Given the description of an element on the screen output the (x, y) to click on. 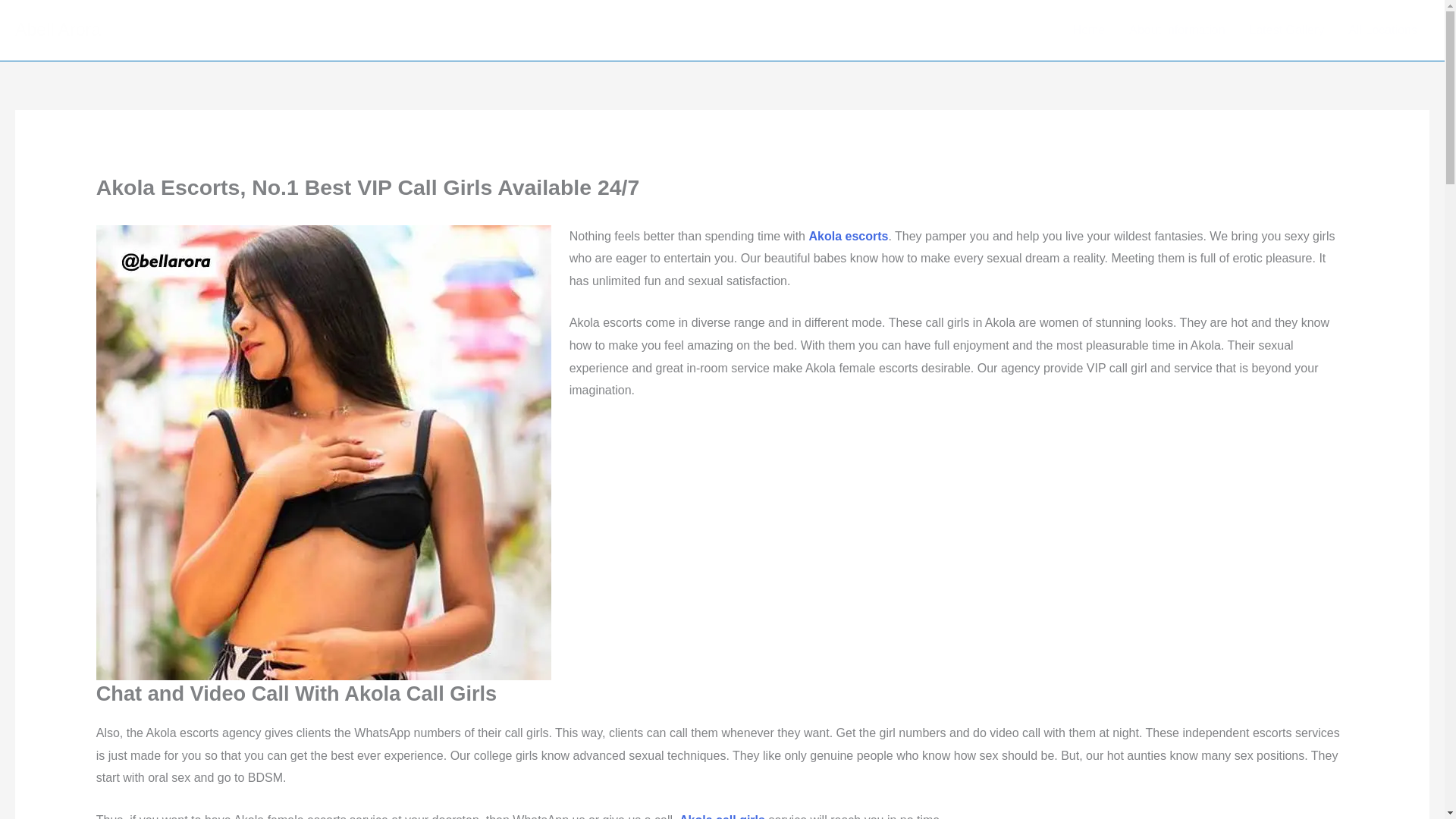
All Locations (1382, 30)
Akola call girls (722, 816)
Abell Arora (57, 29)
Latest Gallery (1286, 30)
About Information (1176, 30)
Home (1089, 30)
Akola escorts (848, 236)
